Given the description of an element on the screen output the (x, y) to click on. 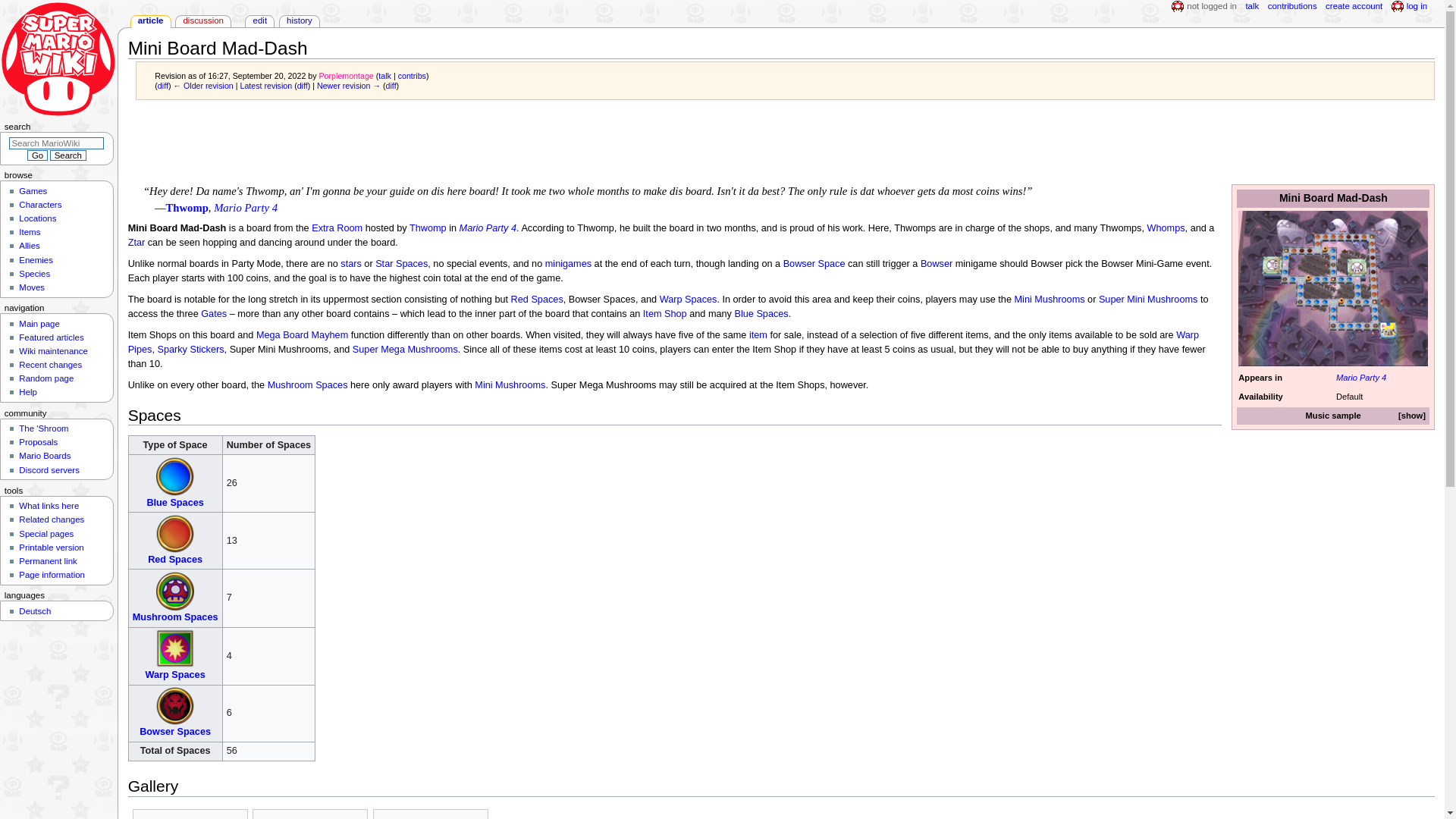
item (758, 335)
Thwomp (186, 207)
show (1411, 415)
minigames (567, 263)
Gates (213, 313)
Mega Board Mayhem (301, 335)
Bowser Space (814, 263)
Mini Board Mad-Dash (162, 85)
User:Porplemontage (346, 75)
Bowser (936, 263)
